Given the description of an element on the screen output the (x, y) to click on. 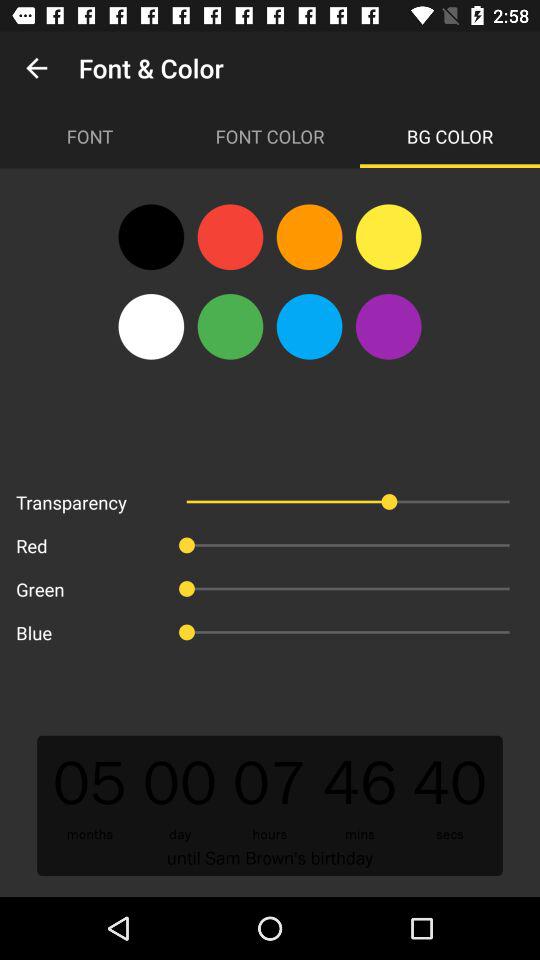
launch item on the right (388, 326)
